Given the description of an element on the screen output the (x, y) to click on. 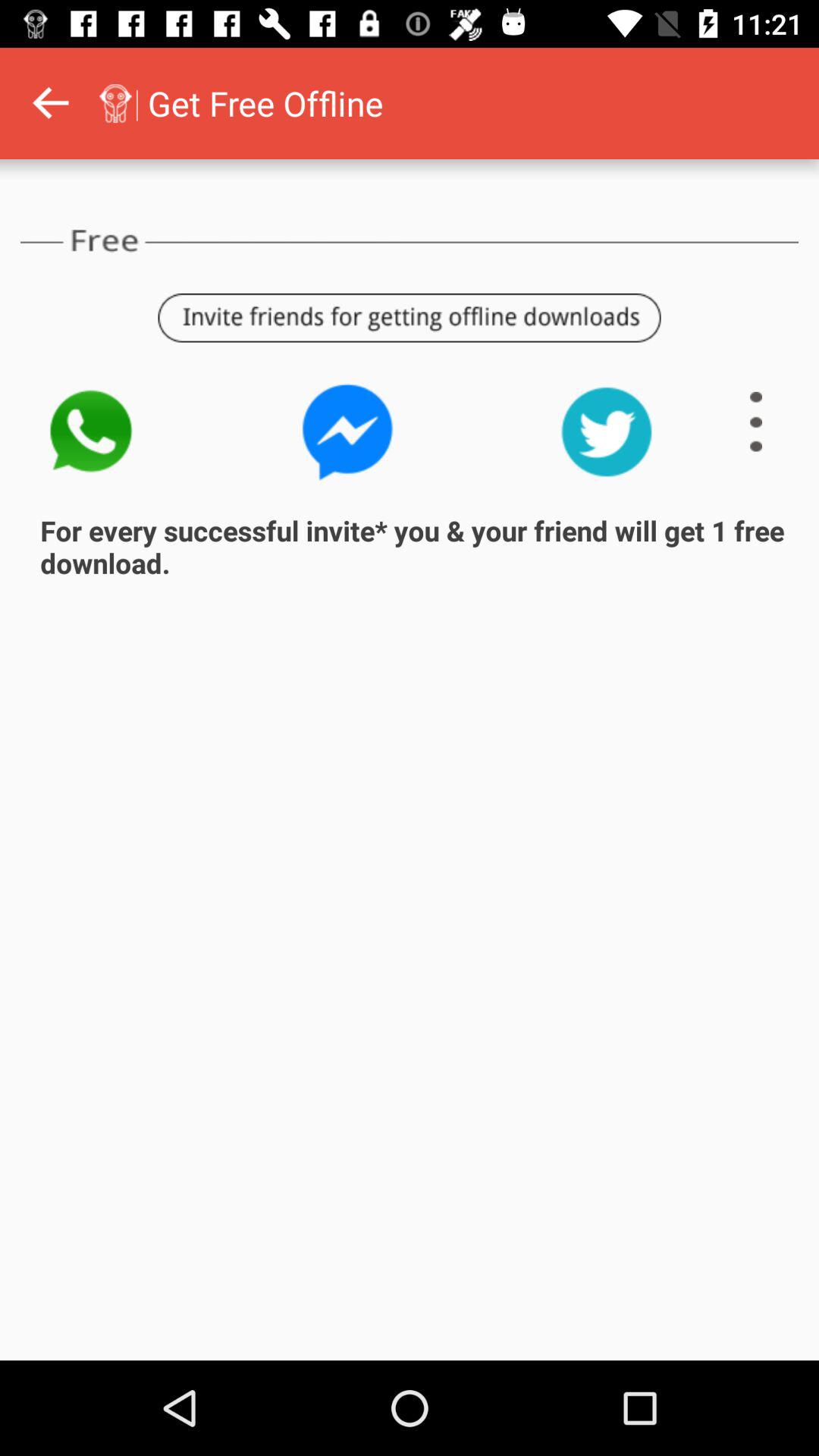
message (348, 431)
